Given the description of an element on the screen output the (x, y) to click on. 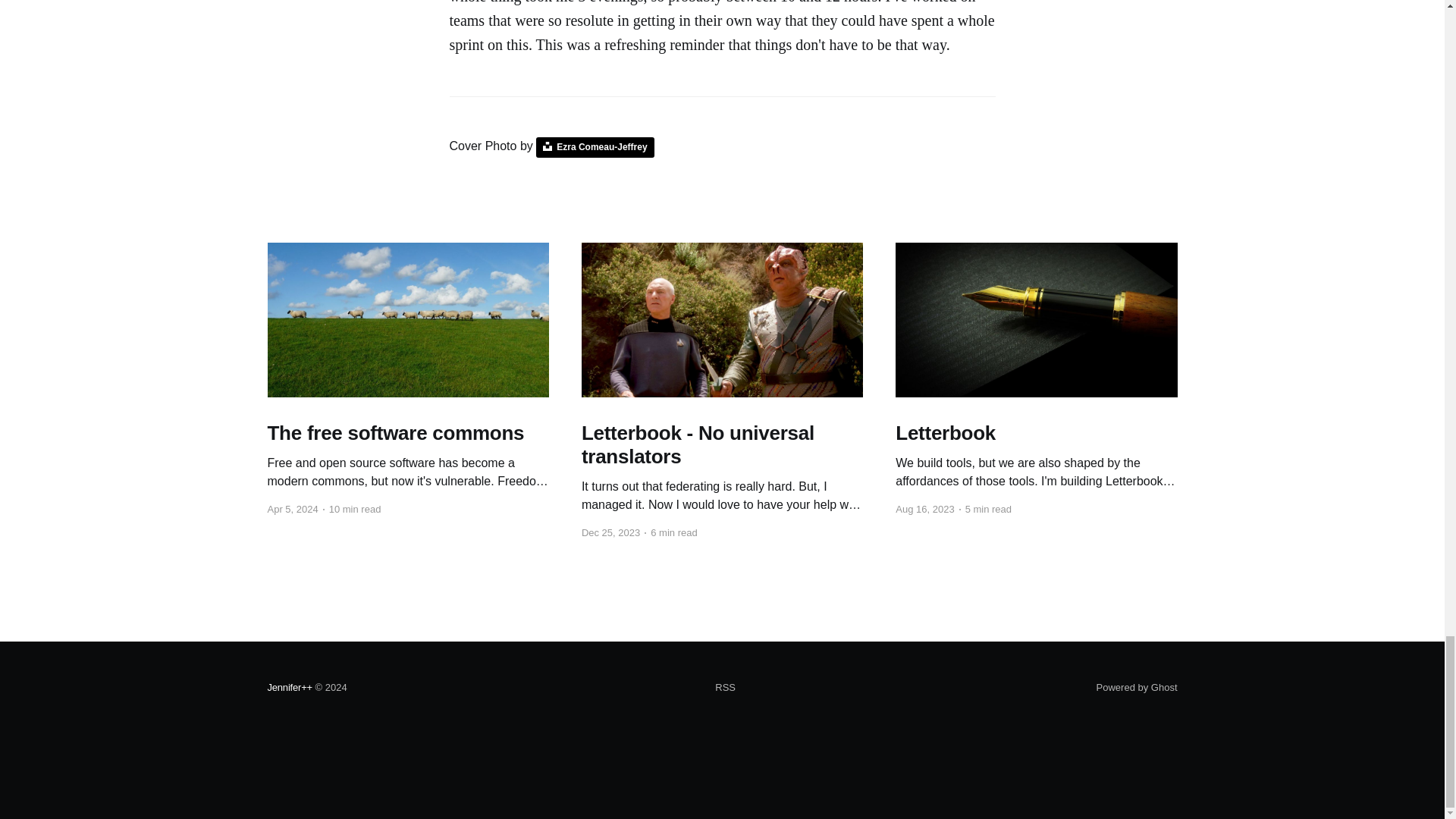
unsplash-logoEzra Comeau-Jeffrey (594, 147)
RSS (724, 687)
unsplash-logo (547, 145)
Powered by Ghost (1136, 686)
